Given the description of an element on the screen output the (x, y) to click on. 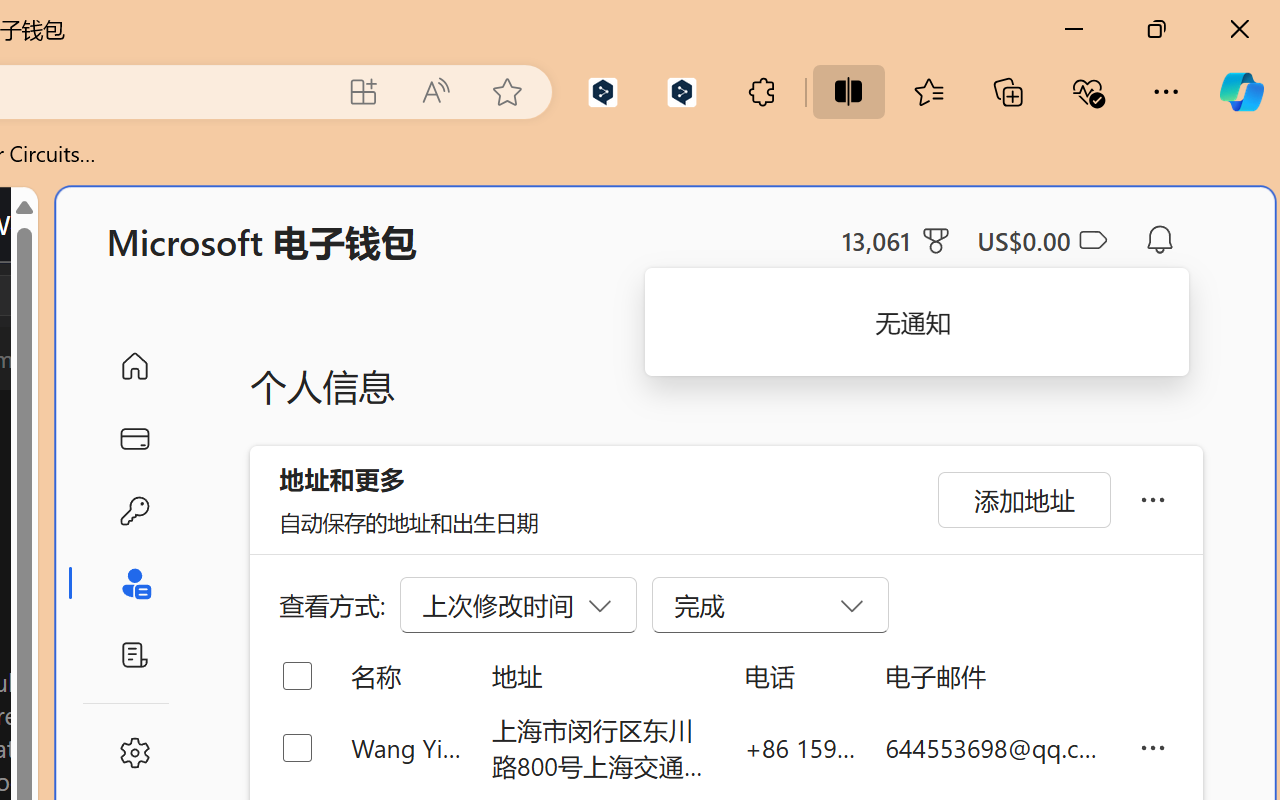
Microsoft Cashback - US$0.00 (1041, 240)
